Given the description of an element on the screen output the (x, y) to click on. 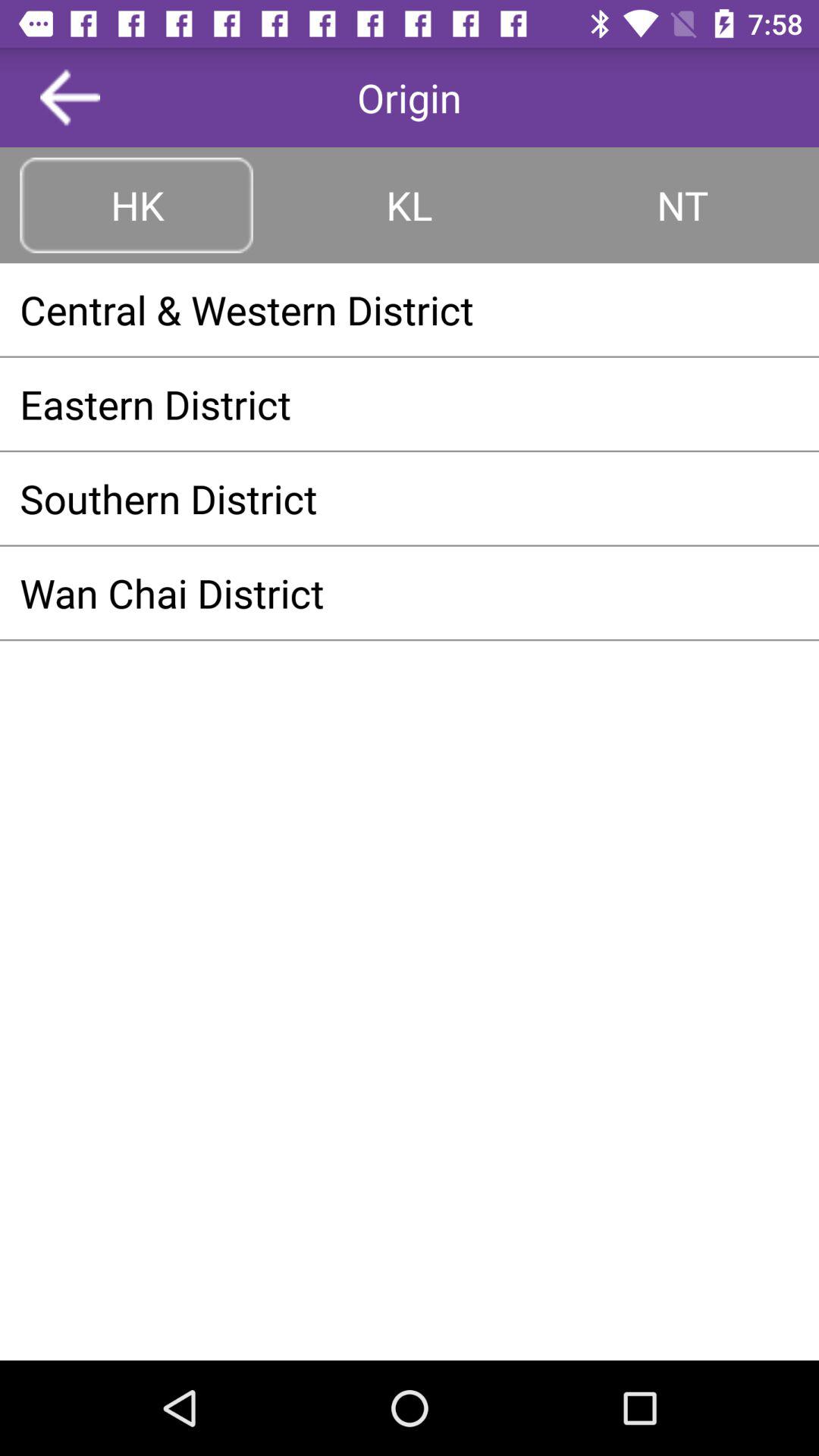
press the item next to origin (69, 97)
